Given the description of an element on the screen output the (x, y) to click on. 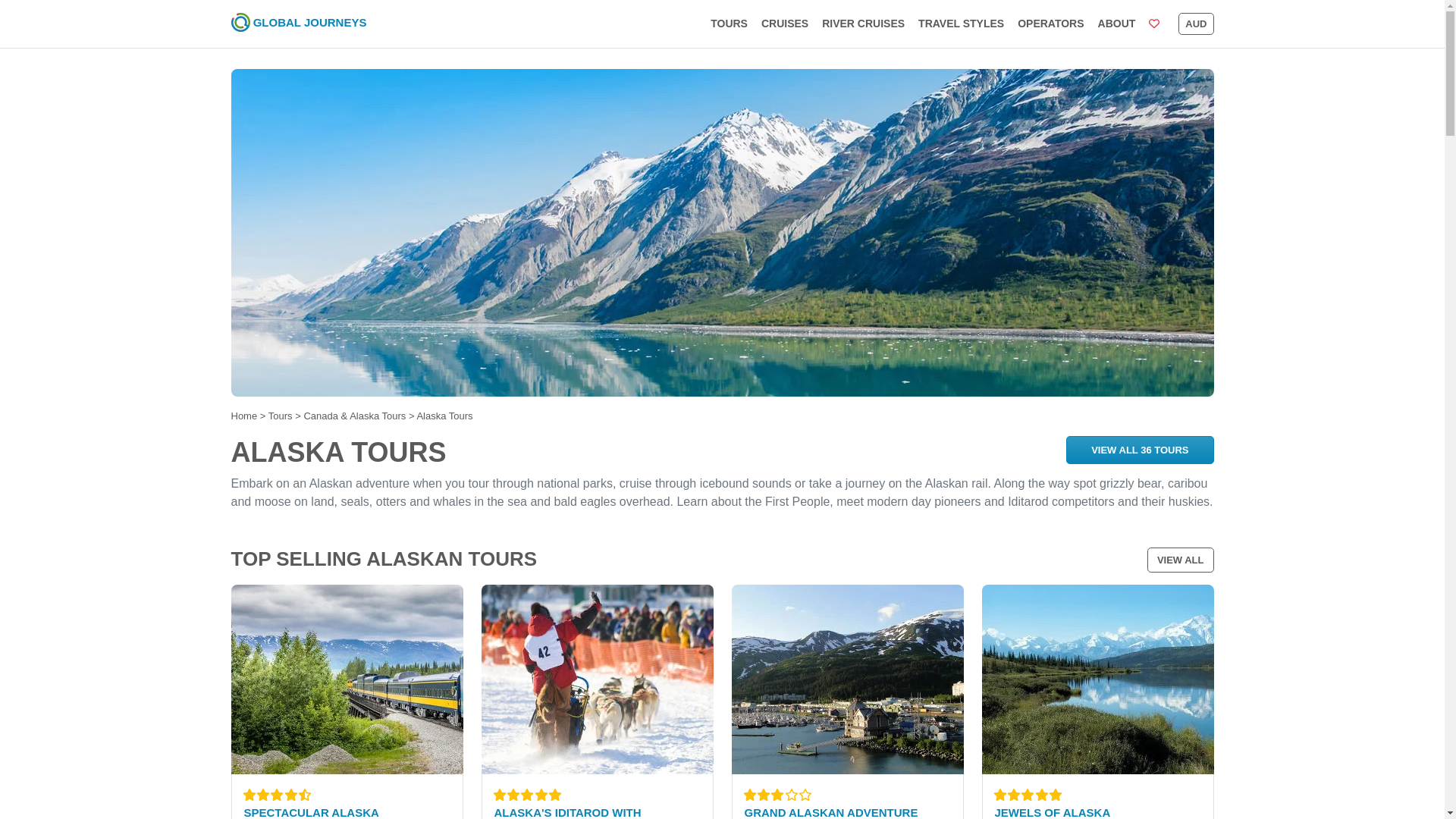
CRUISES (784, 23)
OPERATORS (1050, 23)
GLOBAL JOURNEYS (298, 23)
GLOBAL JOURNEYS (298, 23)
GRAND ALASKAN ADVENTURE (831, 812)
ABOUT (1116, 23)
TRAVEL STYLES (960, 23)
RIVER CRUISES (863, 23)
Tours (281, 415)
JEWELS OF ALASKA (1052, 812)
VIEW ALL 36 TOURS (1138, 449)
GLOBAL JOURNEYS (309, 21)
Home (243, 415)
SPECTACULAR ALASKA (311, 812)
VIEW ALL (1180, 560)
